Given the description of an element on the screen output the (x, y) to click on. 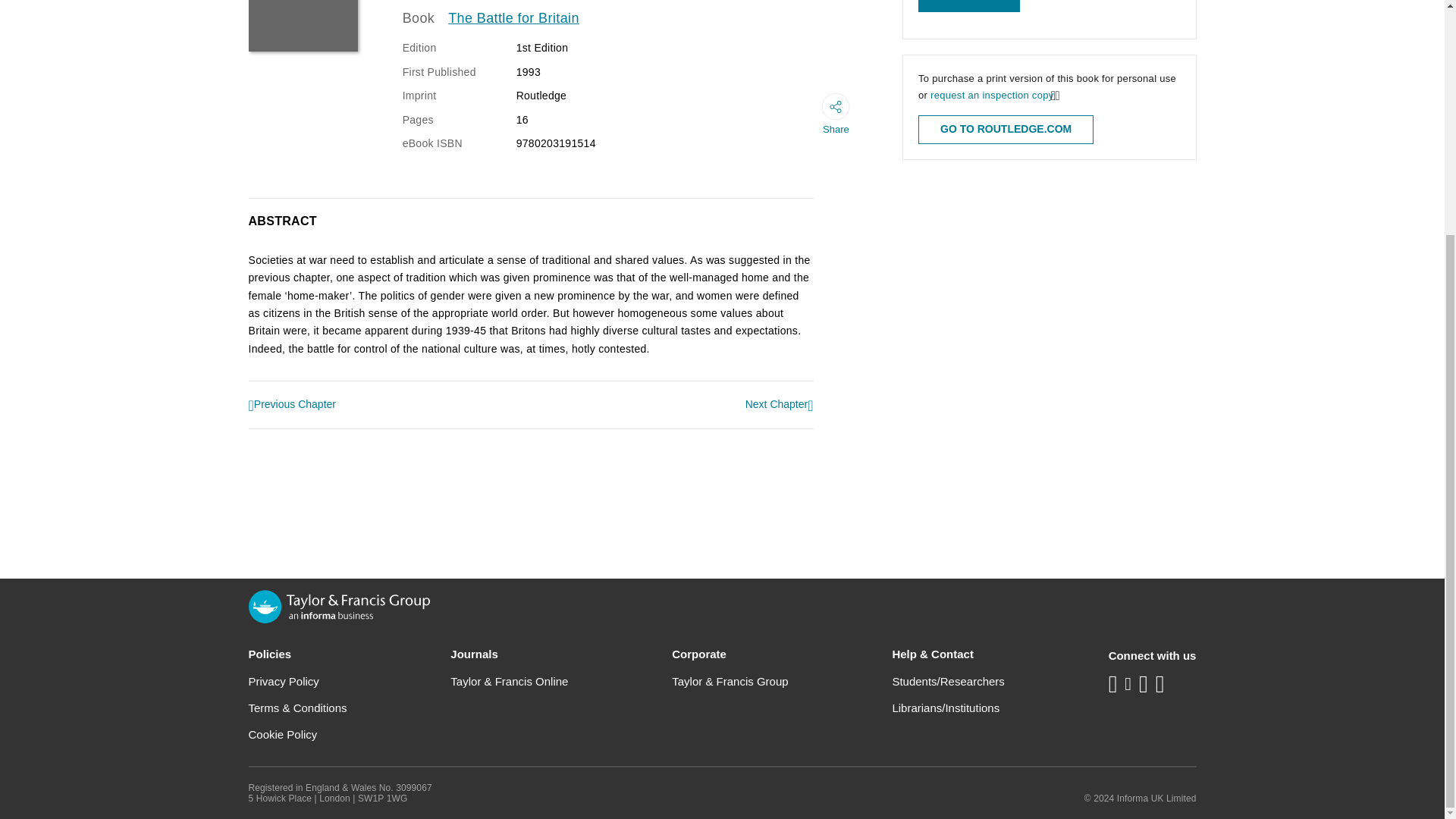
request an inspection copy (991, 94)
The Battle for Britain (513, 18)
When the war is over (779, 404)
Cookie Policy (282, 734)
Privacy Policy (283, 681)
Next Chapter (779, 404)
Previous Chapter (292, 405)
GO TO ROUTLEDGE.COM (1005, 129)
Keeping the home fires burning (292, 405)
GET ACCESS (969, 6)
